Given the description of an element on the screen output the (x, y) to click on. 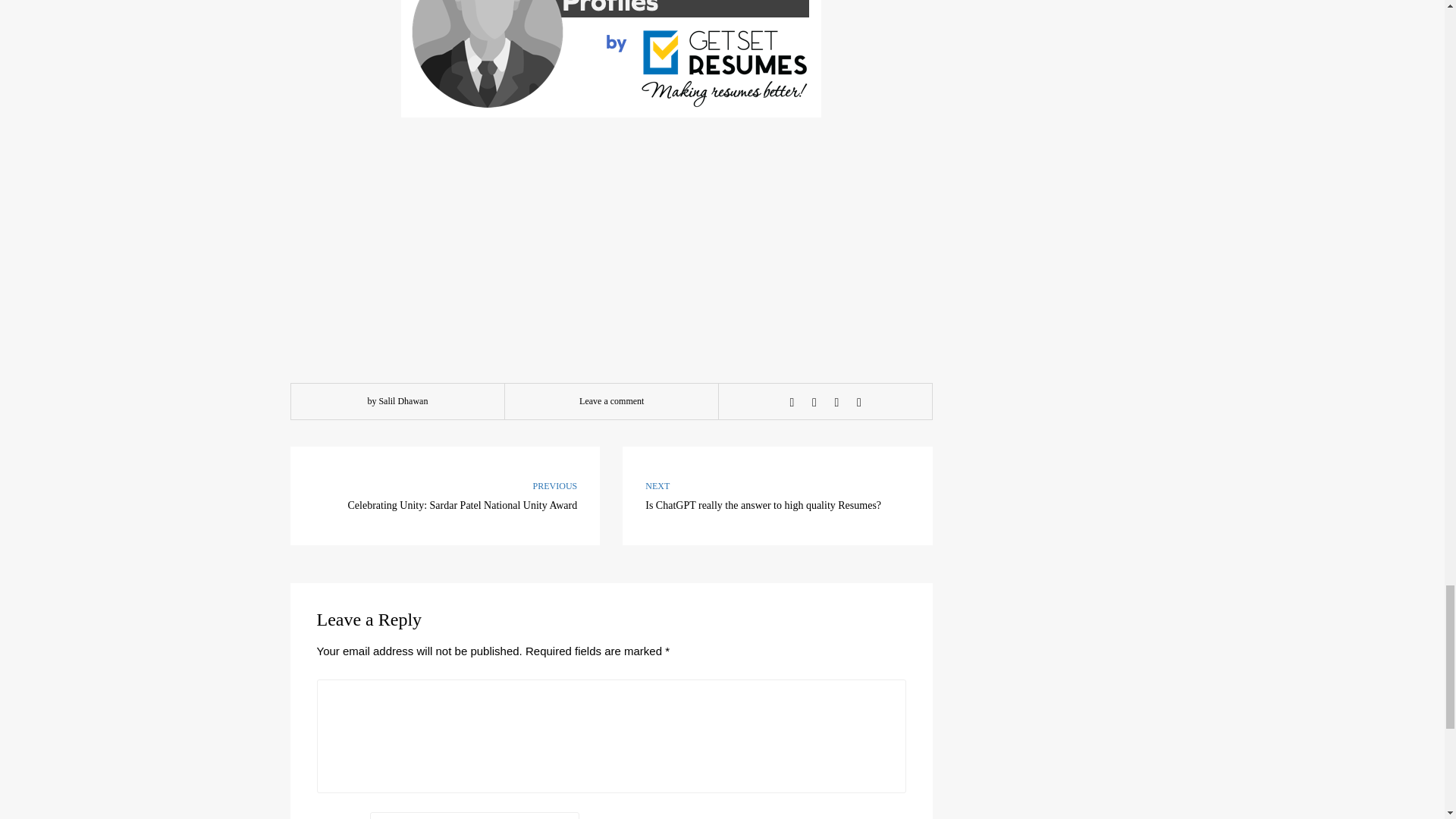
Tweet this (814, 402)
Leave a comment (611, 400)
Share with Google Plus (836, 402)
Share this (791, 402)
Pin this (778, 495)
